Given the description of an element on the screen output the (x, y) to click on. 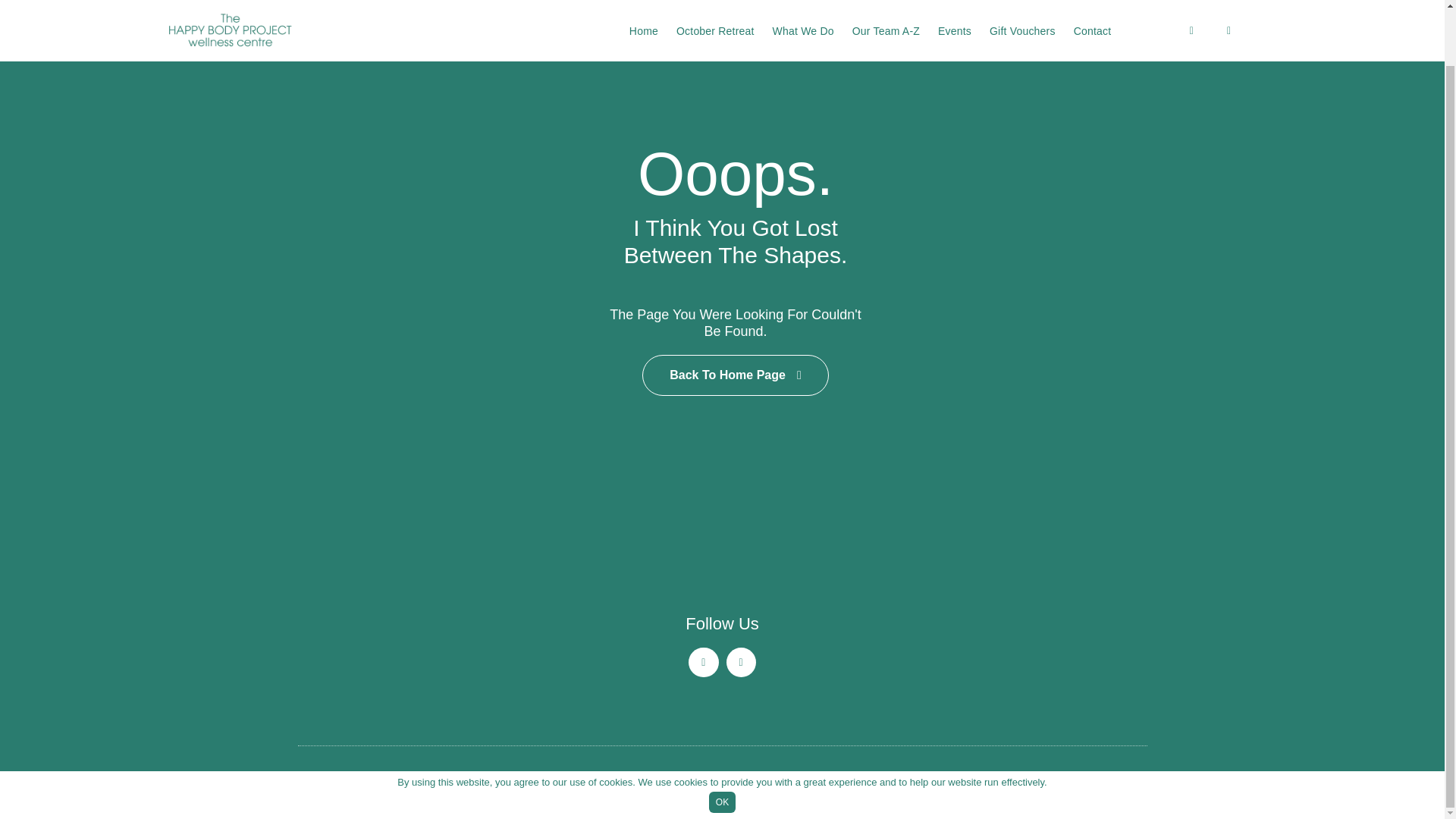
SEO Hedgehog (866, 780)
 OK  (722, 742)
Back To Home Page (735, 374)
